Given the description of an element on the screen output the (x, y) to click on. 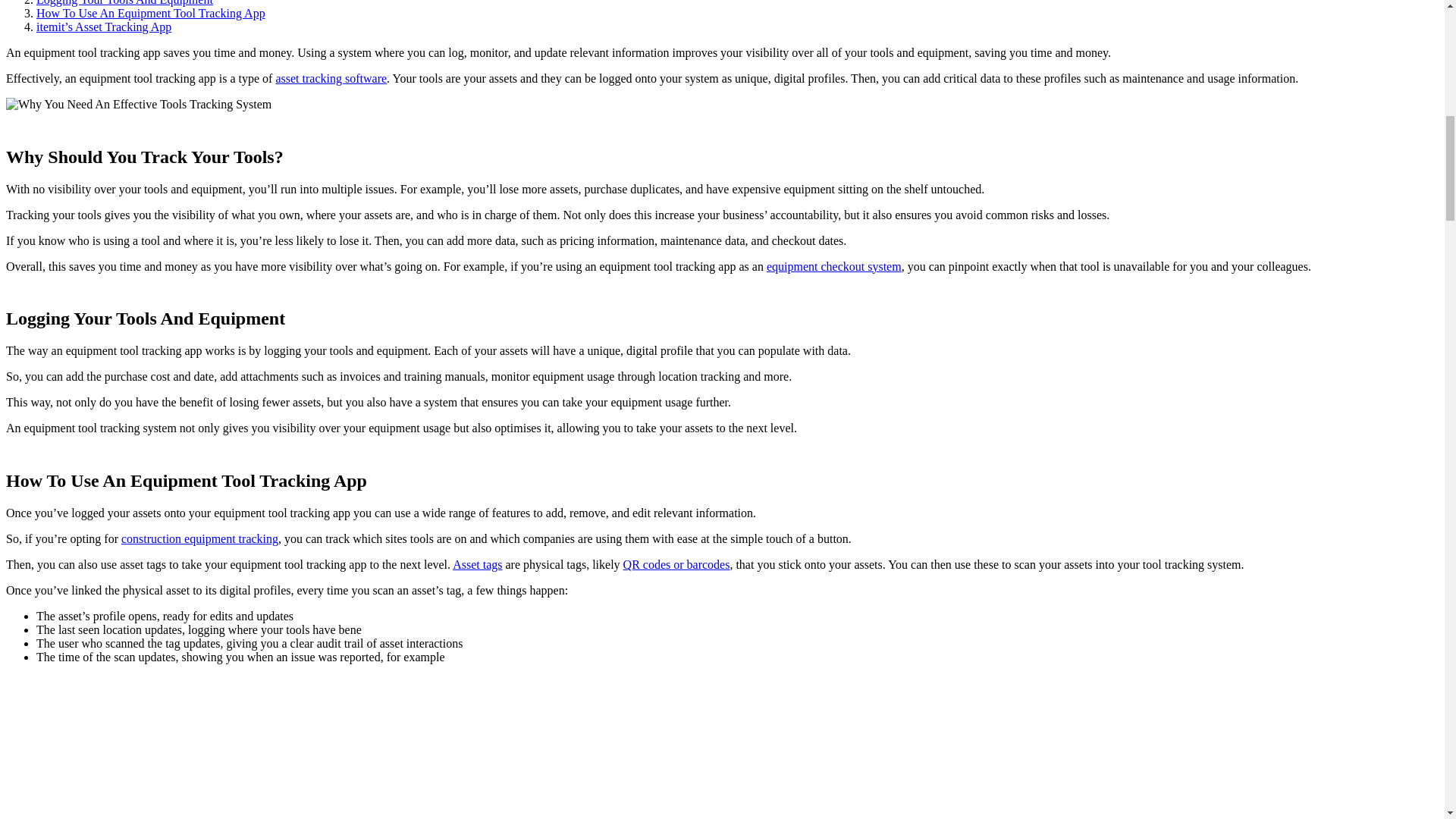
Featured - Why You Need An Effective Tools Tracking System (137, 104)
Logging Your Tools And Equipment (124, 2)
YouTube video player (415, 747)
How To Use An Equipment Tool Tracking App (150, 12)
